Given the description of an element on the screen output the (x, y) to click on. 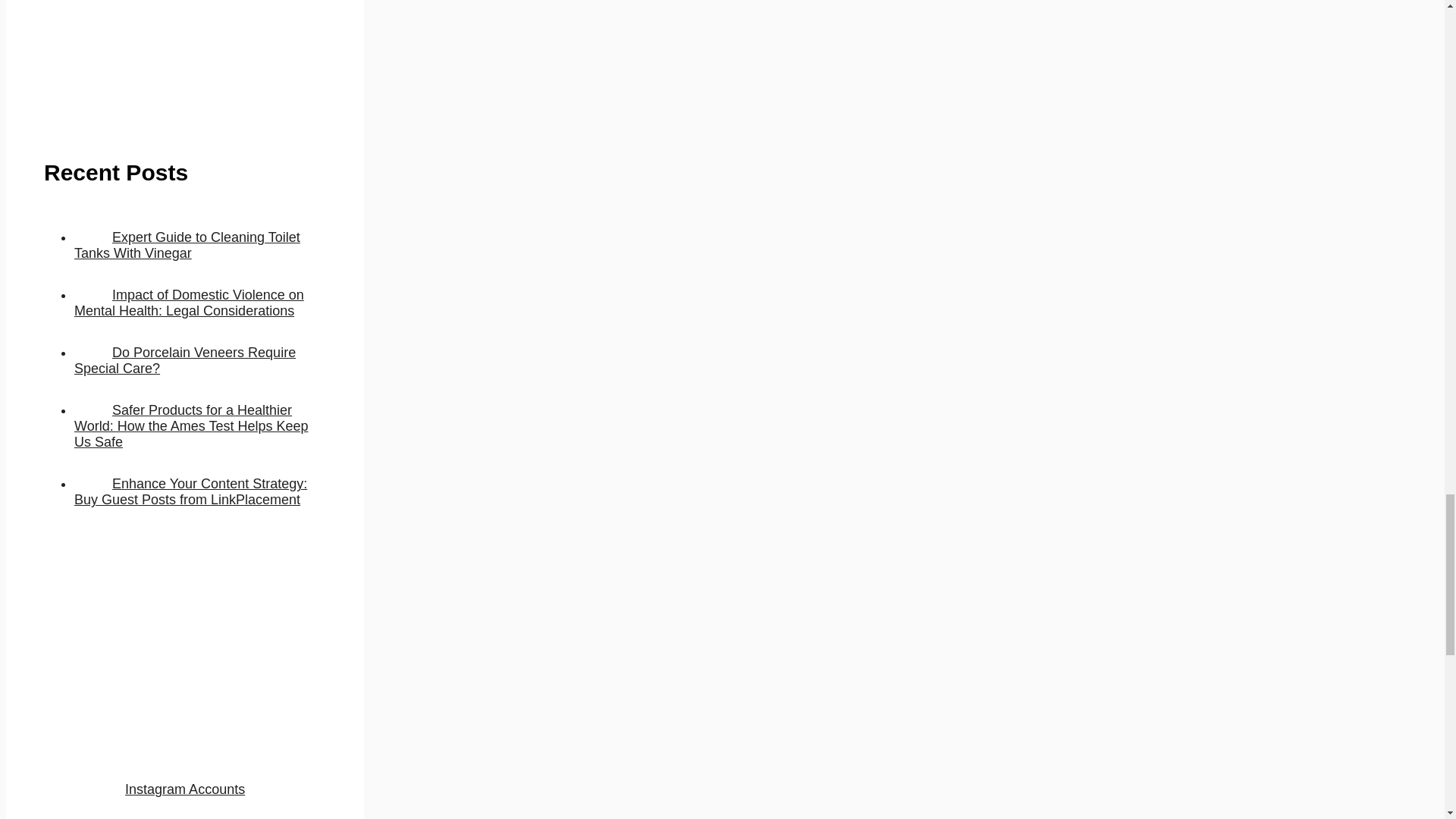
Do Porcelain Veneers Require Special Care? (184, 359)
Expert Guide to Cleaning Toilet Tanks With Vinegar (186, 245)
Instagram Accounts (184, 789)
